Given the description of an element on the screen output the (x, y) to click on. 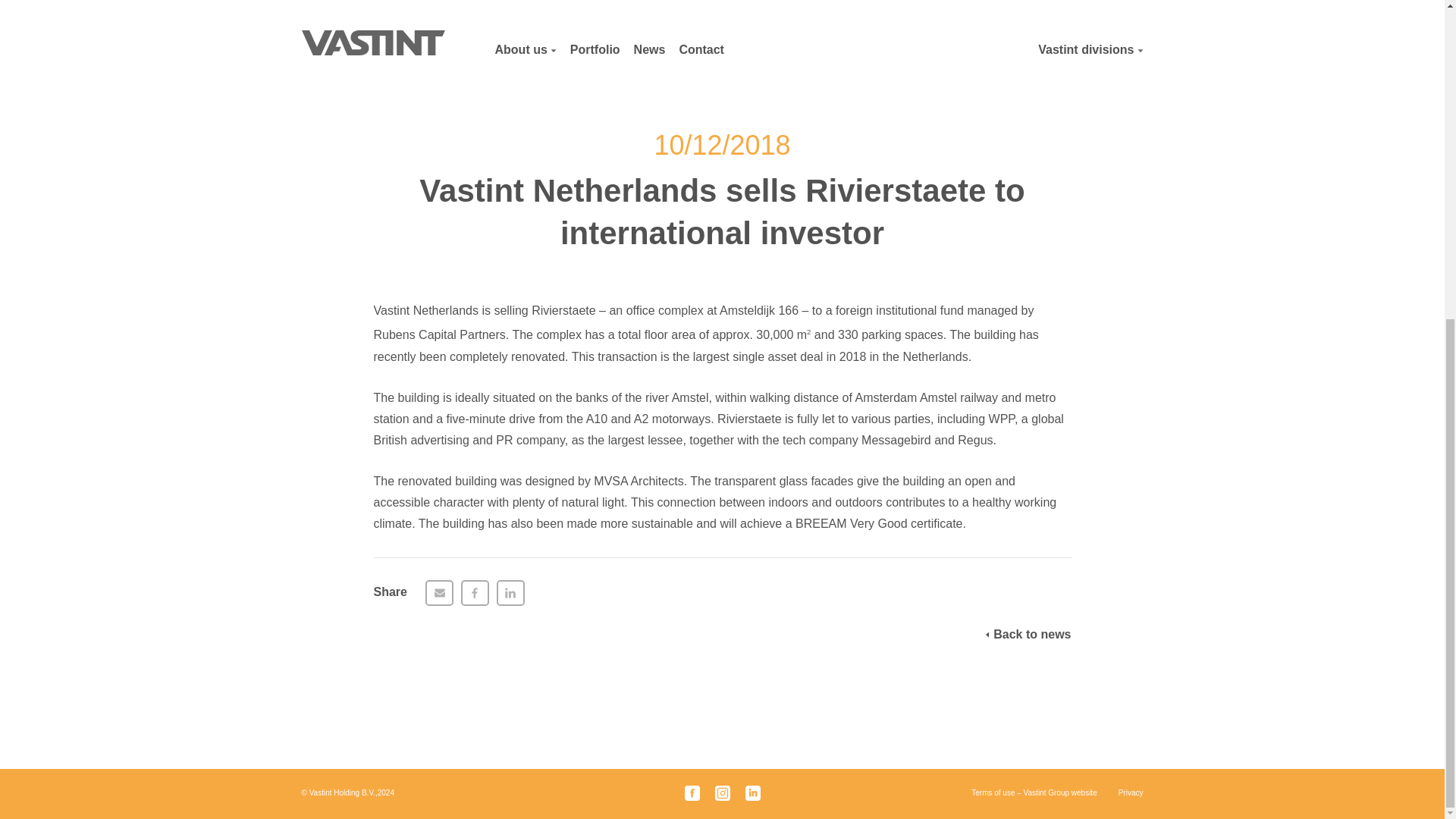
Back to news (1027, 634)
Privacy (1130, 792)
